Given the description of an element on the screen output the (x, y) to click on. 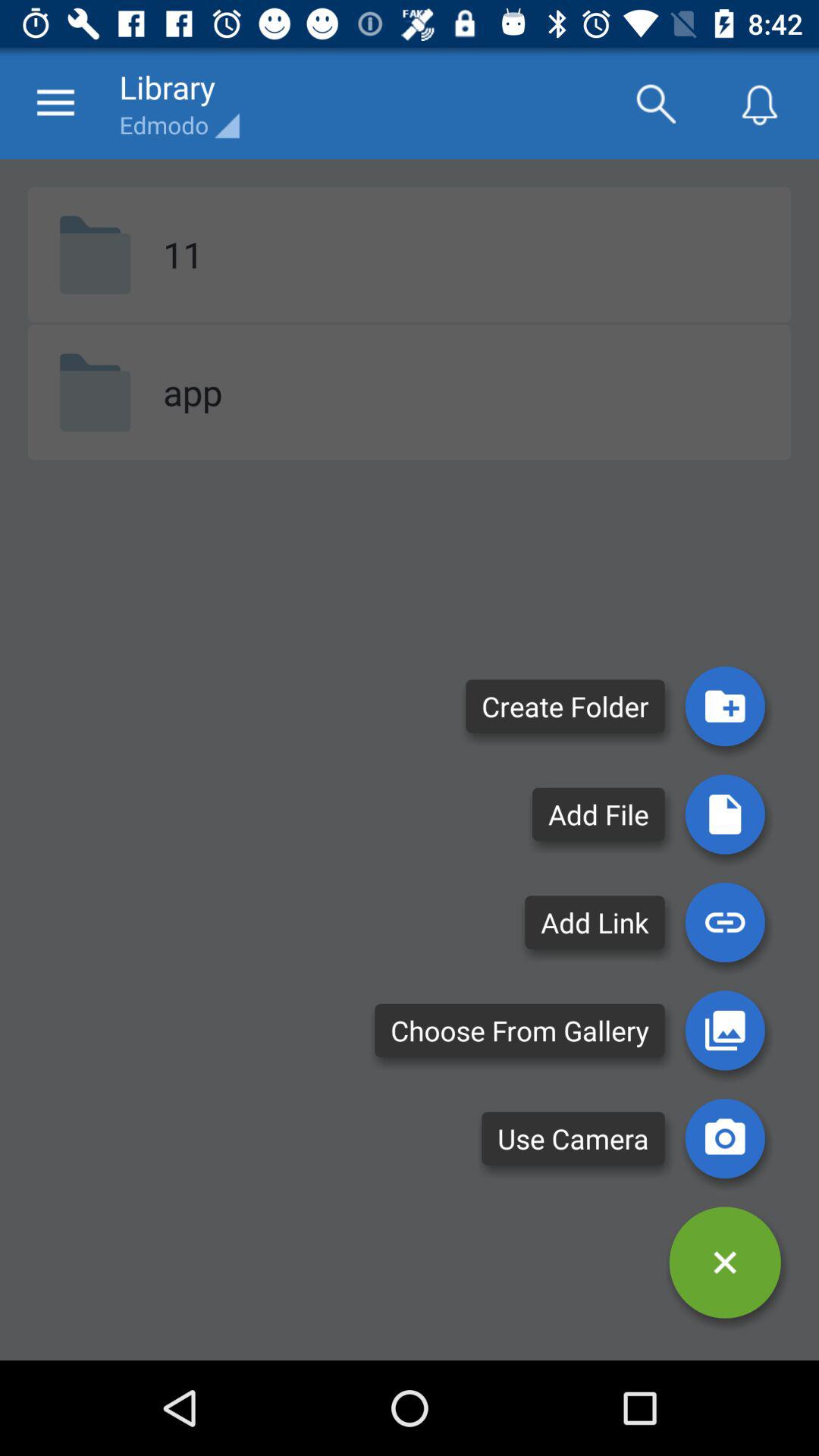
add link (725, 922)
